Given the description of an element on the screen output the (x, y) to click on. 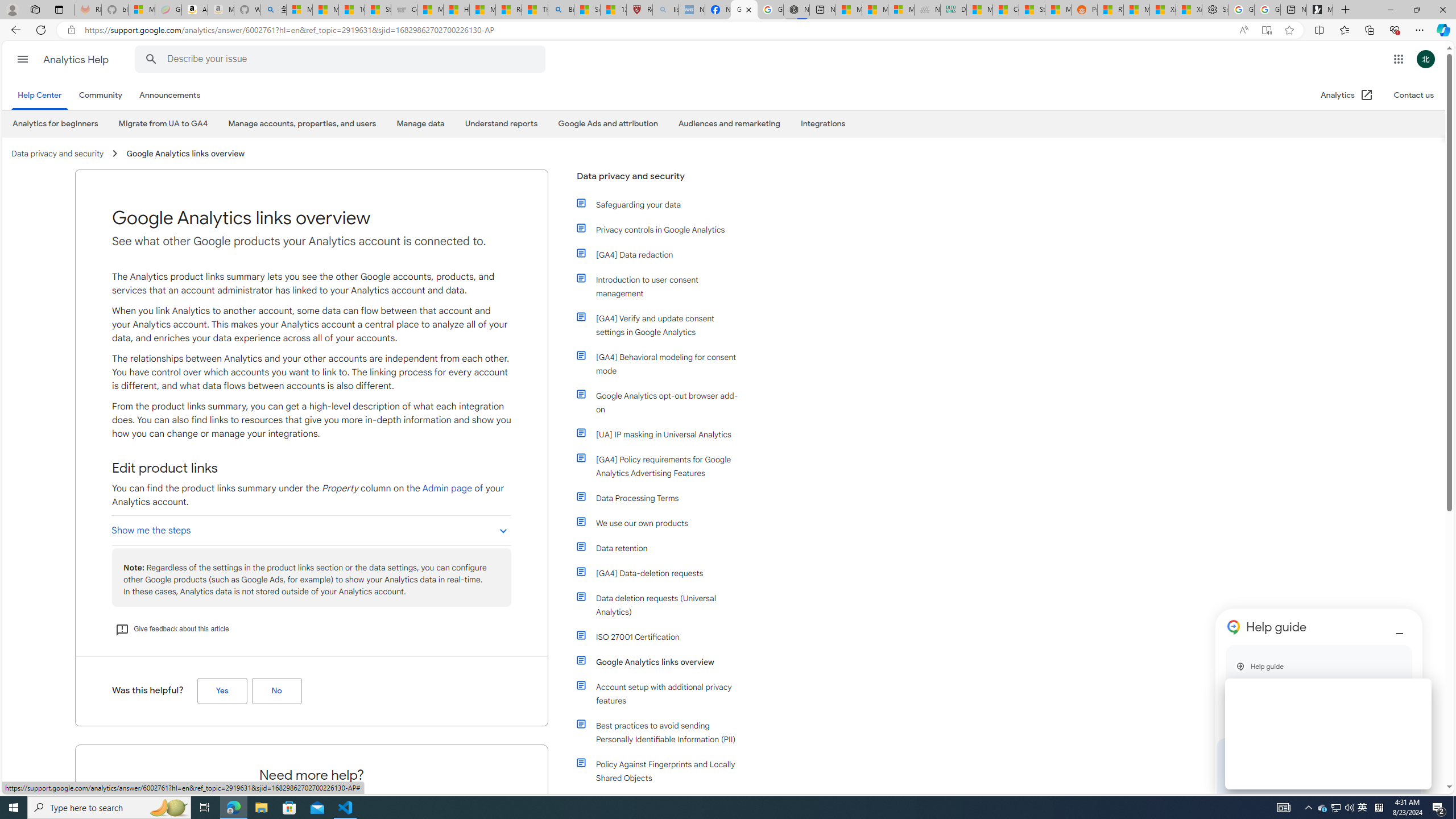
Analytics for beginners (55, 123)
DITOGAMES AG Imprint (953, 9)
Migrate from UA to GA4 (162, 123)
Admin page (447, 488)
Main menu (22, 58)
Combat Siege (403, 9)
Safeguarding your data (658, 204)
Analytics for beginners (56, 123)
[GA4] Behavioral modeling for consent mode (658, 363)
Data deletion requests (Universal Analytics) (658, 604)
